Given the description of an element on the screen output the (x, y) to click on. 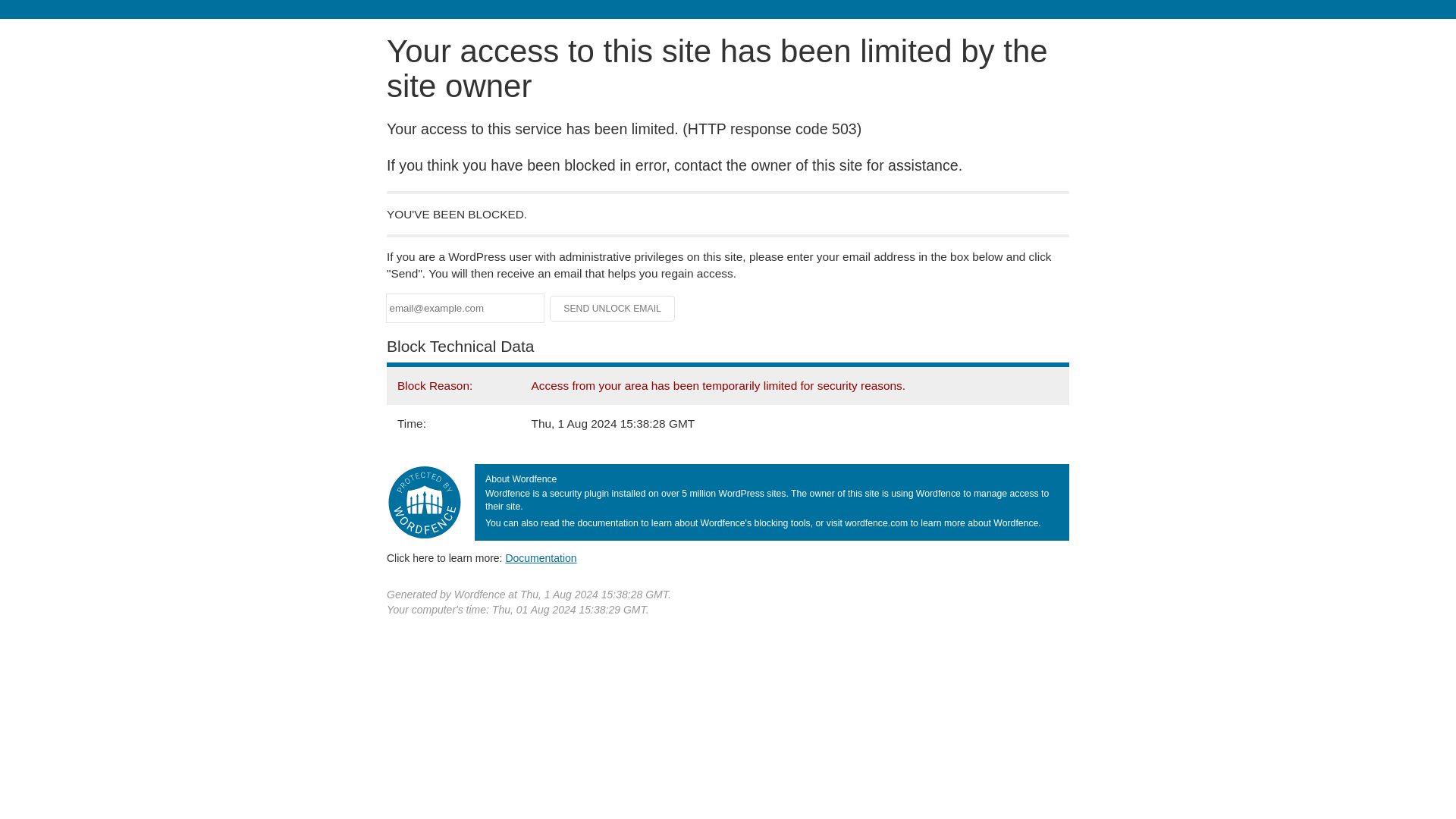
Send Unlock Email (612, 308)
Send Unlock Email (612, 308)
Documentation (540, 558)
